Given the description of an element on the screen output the (x, y) to click on. 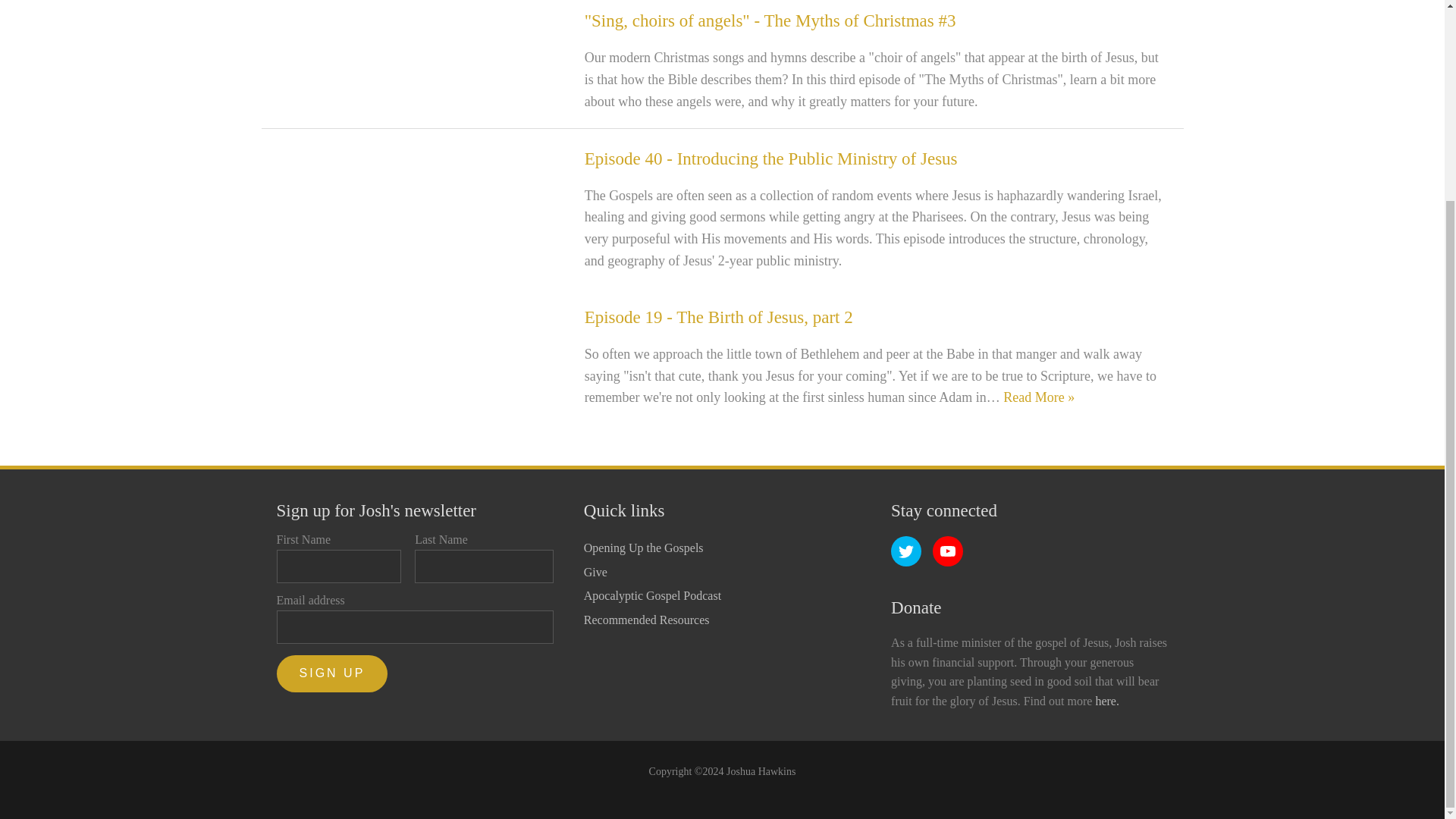
Sign up (332, 673)
Give (651, 572)
Opening Up the Gospels (651, 548)
here. (1106, 700)
Recommended Resources (651, 620)
Episode 40 - Introducing the Public Ministry of Jesus (771, 158)
Sign up (332, 673)
Episode 19 - The Birth of Jesus, part 2 (719, 316)
Apocalyptic Gospel Podcast (651, 595)
